Given the description of an element on the screen output the (x, y) to click on. 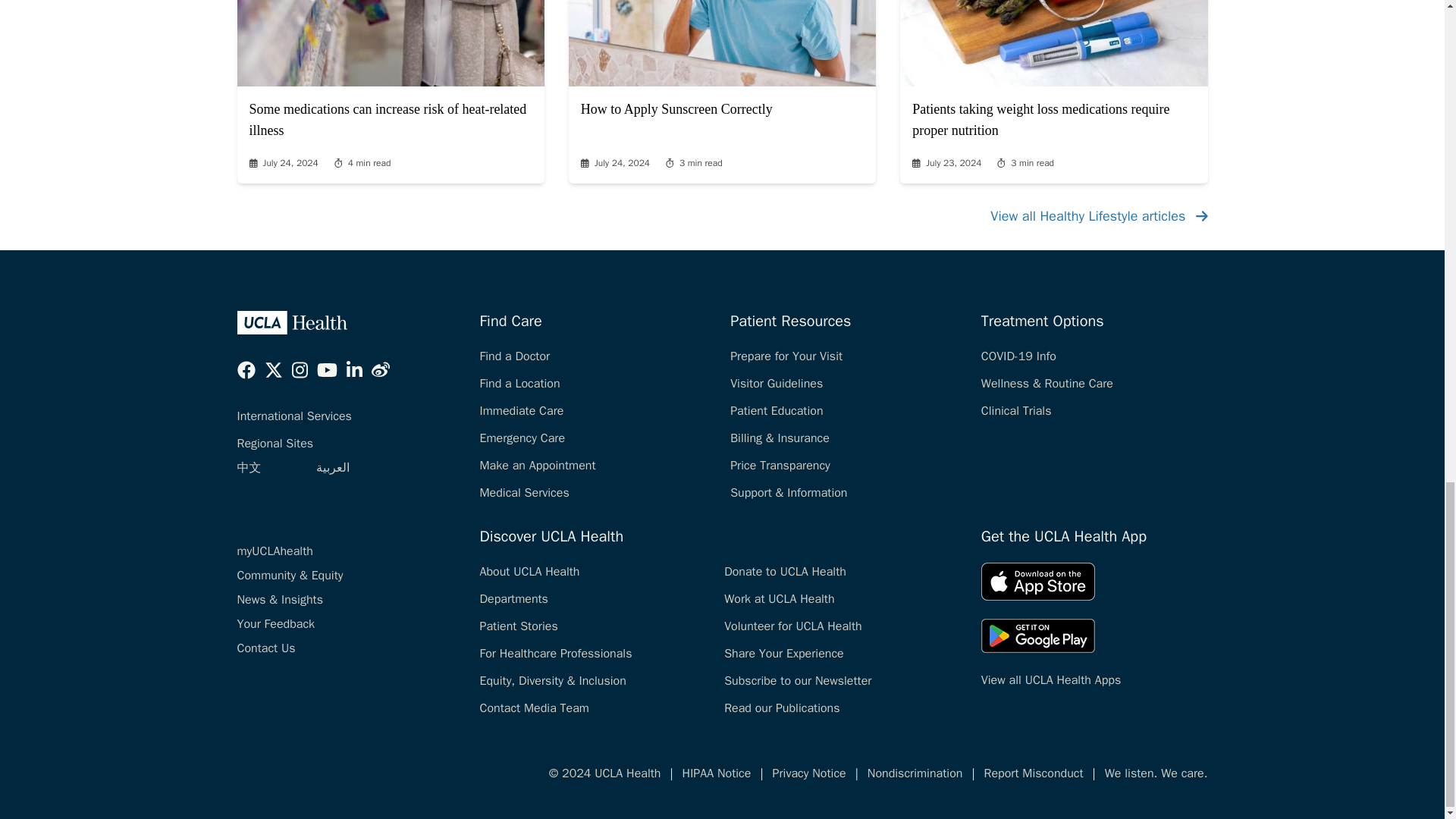
myUCLAhealth Login. (274, 550)
